Given the description of an element on the screen output the (x, y) to click on. 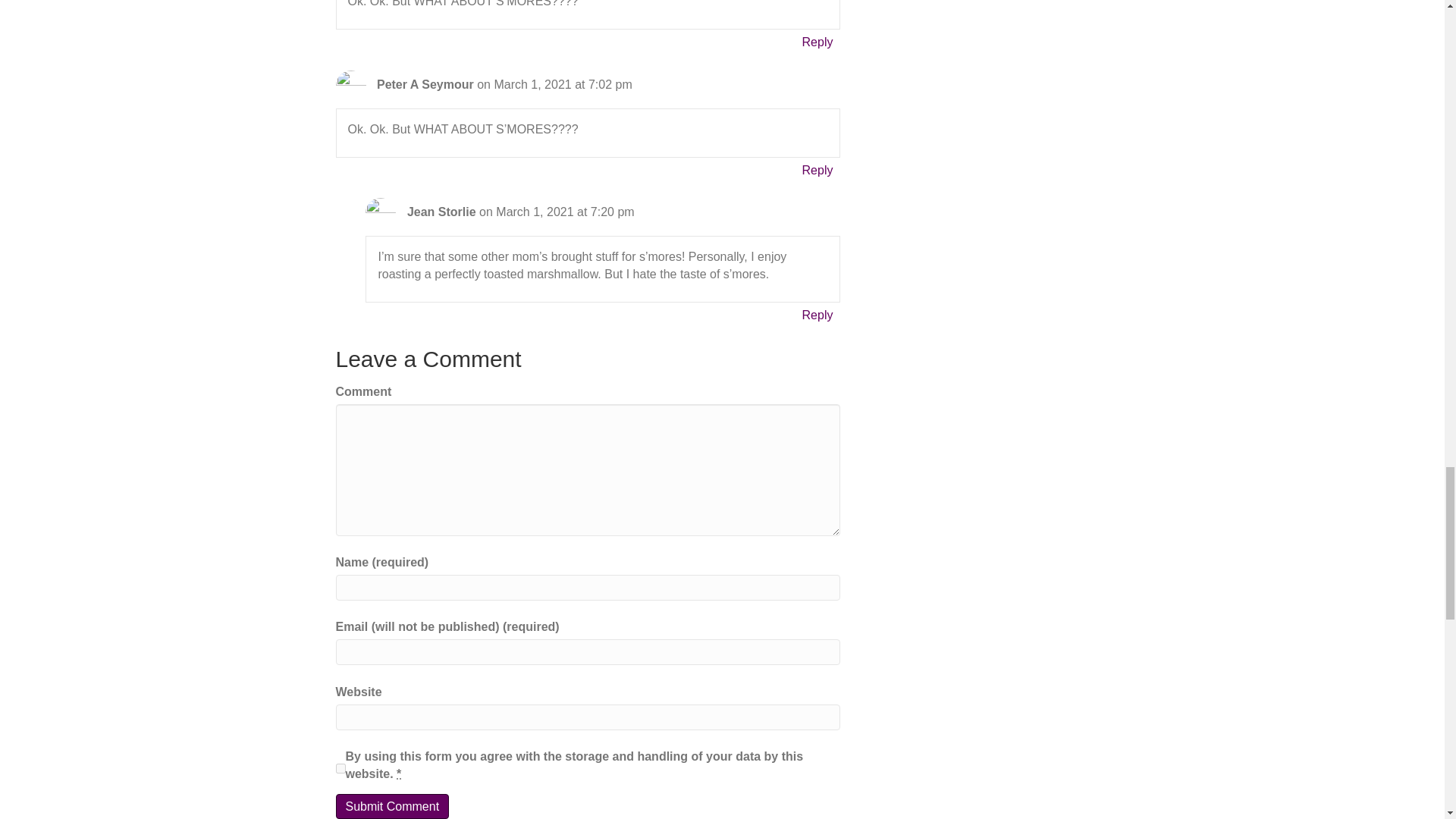
Reply (817, 169)
Submit Comment (391, 806)
Reply (817, 41)
Reply (817, 314)
